Given the description of an element on the screen output the (x, y) to click on. 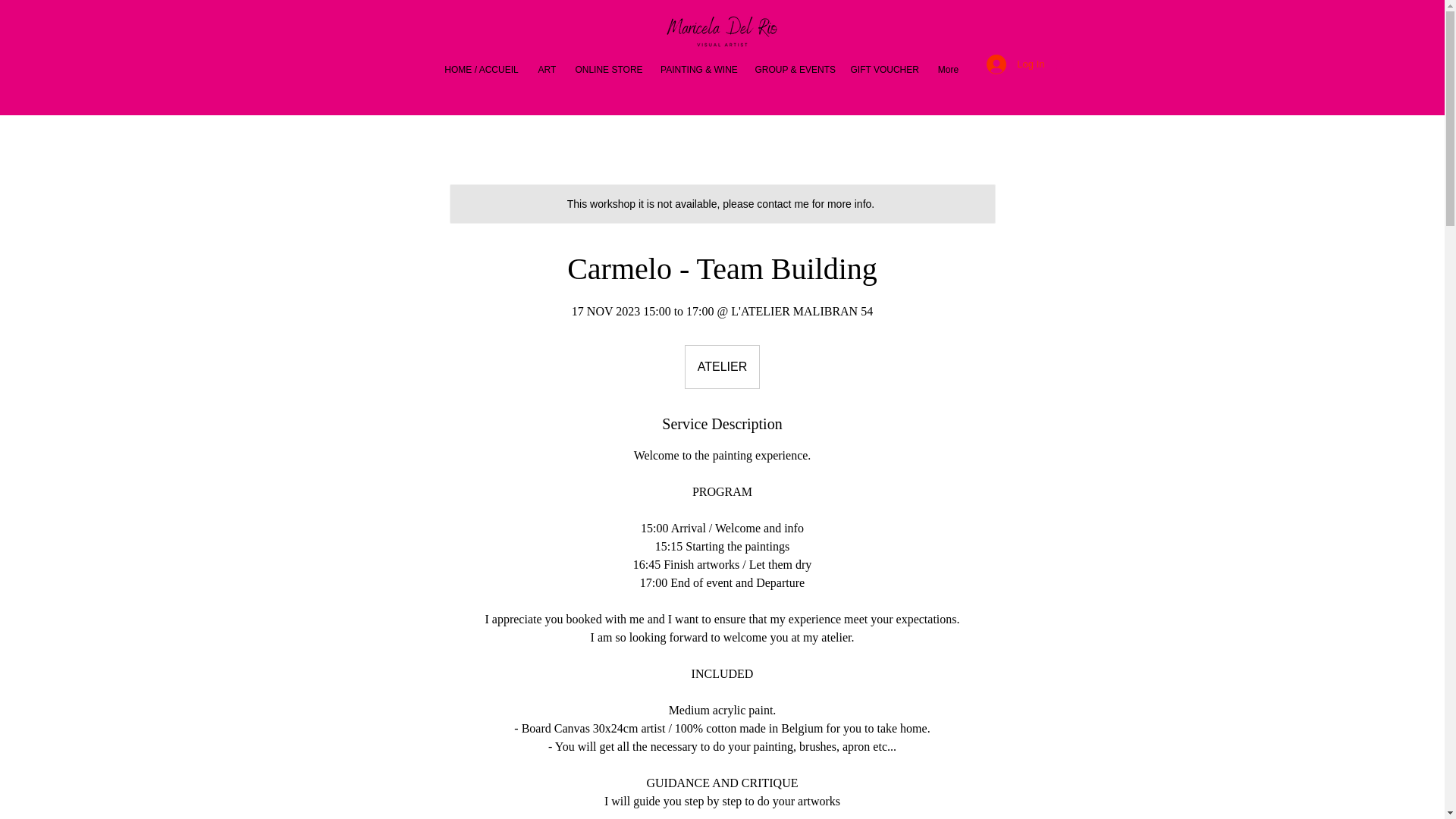
ONLINE STORE (608, 69)
Log In (1014, 63)
GIFT VOUCHER (883, 69)
ART (546, 69)
